Given the description of an element on the screen output the (x, y) to click on. 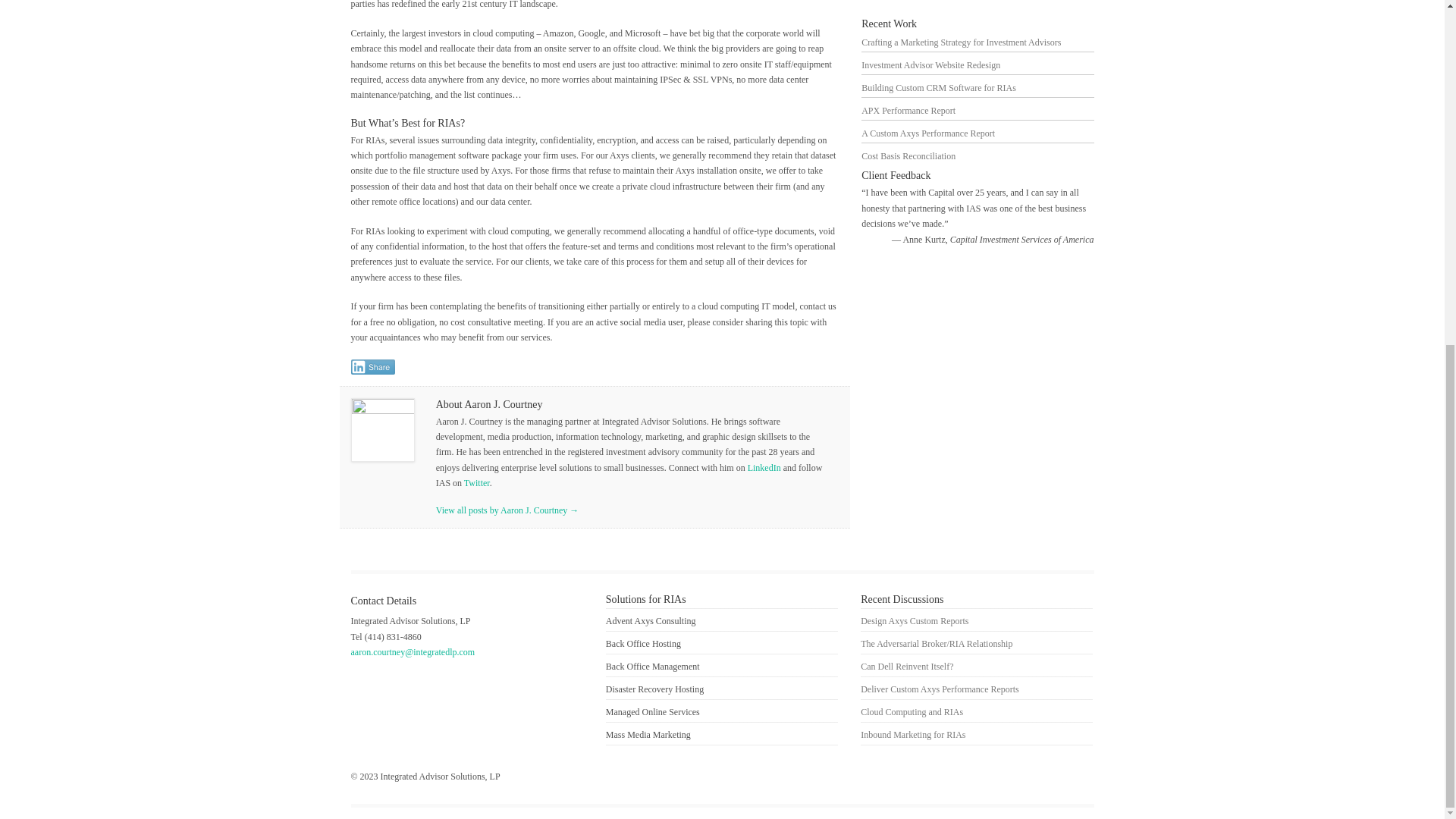
A Custom Axys Performance Report (927, 132)
Permanent link to A Custom Axys Performance Report (927, 132)
LinkedIn (764, 467)
Building Custom CRM Software for RIAs (938, 87)
Permanent link to Investment Advisor Website Redesign (930, 64)
Permanent link to Building Custom CRM Software for RIAs (938, 87)
APX Performance Report (908, 110)
Permanent link to APX Performance Report (908, 110)
Investment Advisor Website Redesign (930, 64)
Share (372, 366)
Permanent link to Cost Basis Reconciliation (908, 155)
Twitter (475, 482)
Crafting a Marketing Strategy for Investment Advisors (961, 41)
